Given the description of an element on the screen output the (x, y) to click on. 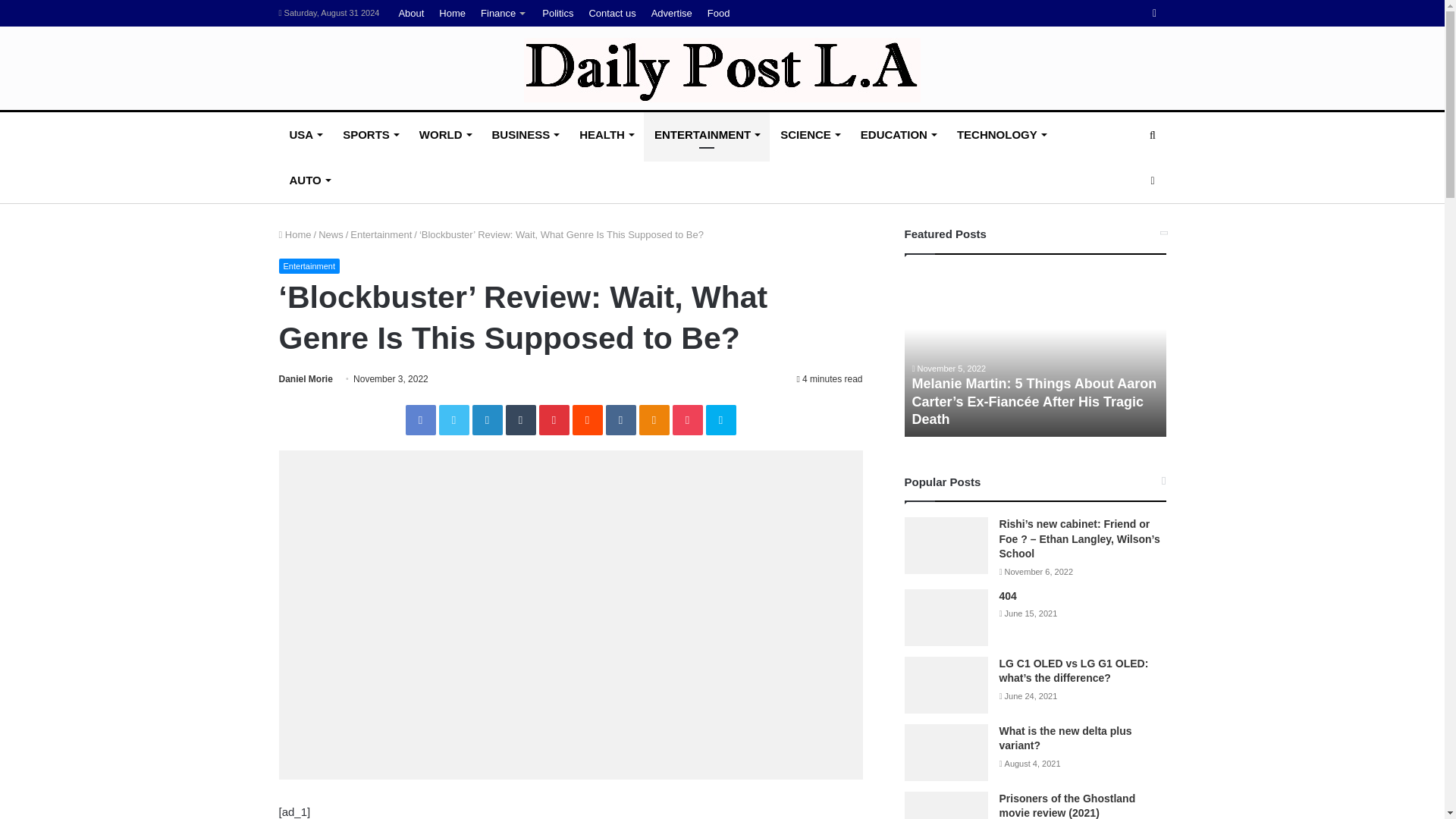
Contact us (611, 13)
Home (451, 13)
SPORTS (370, 135)
BUSINESS (525, 135)
WORLD (445, 135)
Daily Post LA (722, 69)
Advertise (671, 13)
USA (306, 135)
Food (719, 13)
Daniel Morie (306, 378)
